Given the description of an element on the screen output the (x, y) to click on. 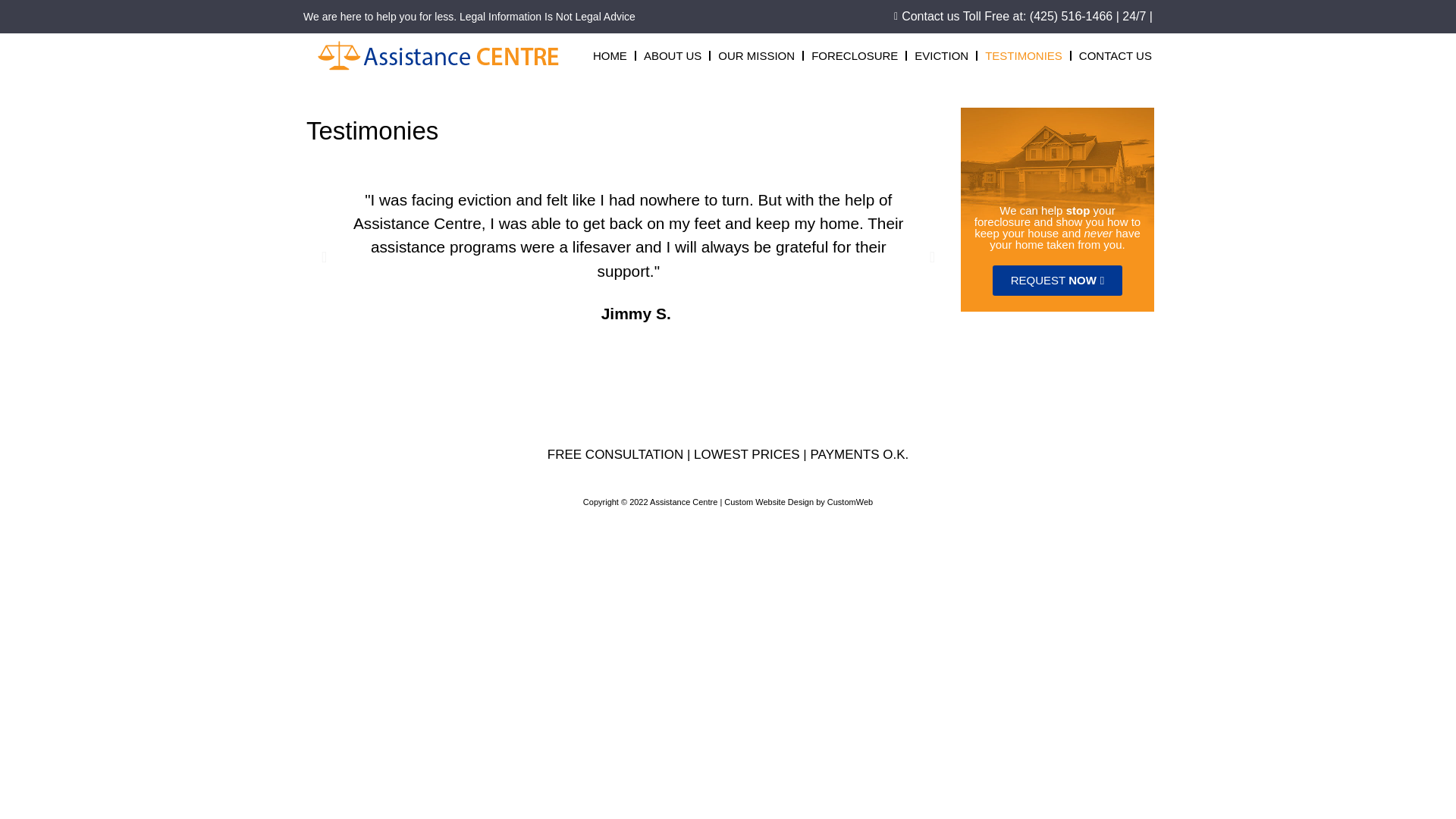
TESTIMONIES (1023, 54)
HOME (609, 54)
ABOUT US (672, 54)
FORECLOSURE (854, 54)
REQUEST NOW (1057, 280)
OUR MISSION (755, 54)
CONTACT US (1115, 54)
EVICTION (941, 54)
